Given the description of an element on the screen output the (x, y) to click on. 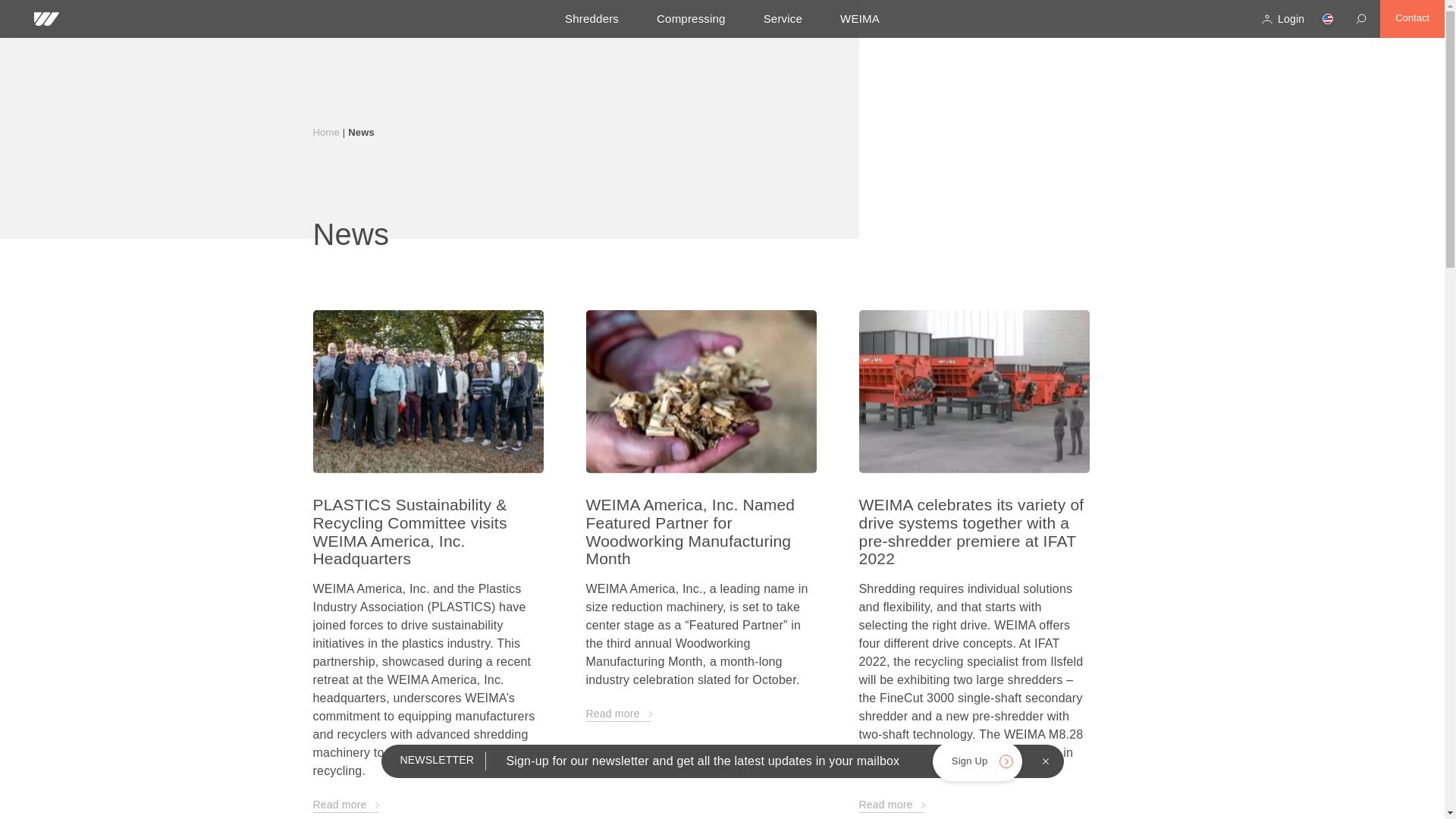
WEIMA (859, 18)
Compressing (690, 18)
Login (1282, 18)
Service (782, 18)
Shredders (591, 18)
